Given the description of an element on the screen output the (x, y) to click on. 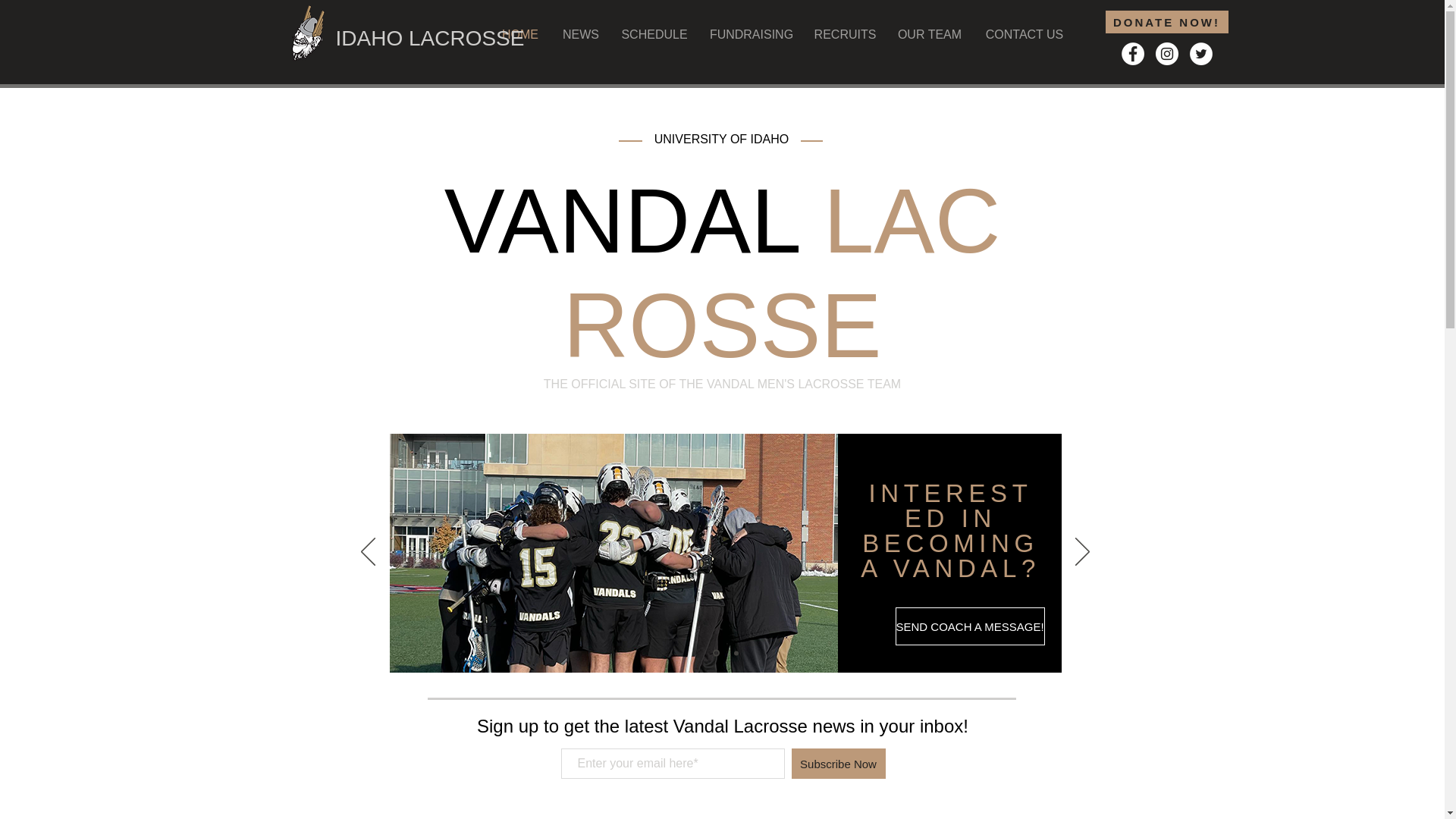
HOME (520, 34)
OUR TEAM (929, 34)
SCHEDULE (654, 34)
FUNDRAISING (751, 34)
SEND COACH A MESSAGE! (969, 626)
IDAHO LACROSSE (429, 38)
RECRUITS (845, 34)
CONTACT US (1024, 34)
DONATE NOW! (1166, 21)
Subscribe Now (838, 763)
